Given the description of an element on the screen output the (x, y) to click on. 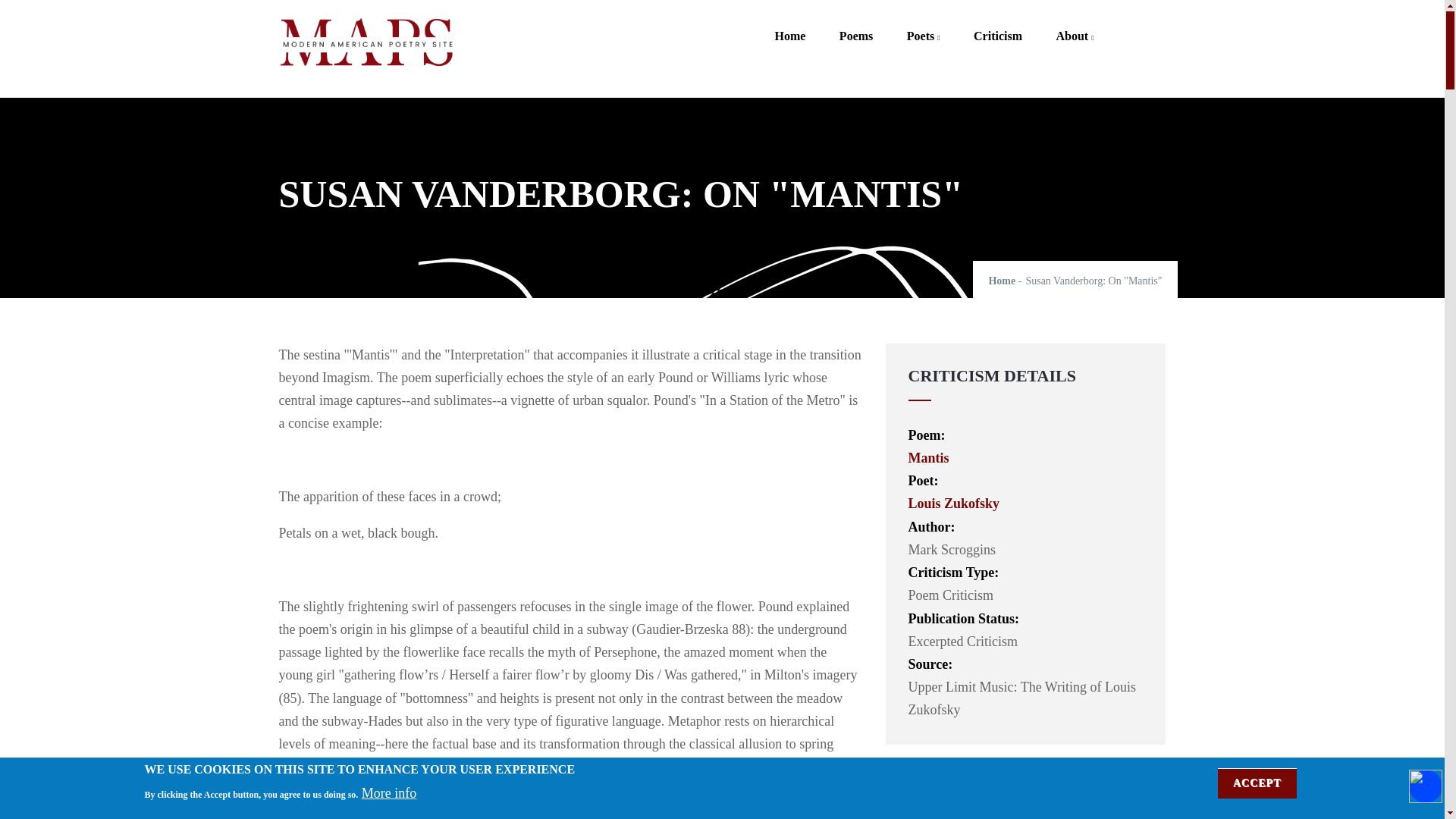
Home (789, 25)
Home (365, 44)
Louis Zukofsky (954, 503)
Poets (923, 25)
Home (1001, 280)
Poems (856, 25)
ACCEPT (1257, 783)
More info (388, 793)
Mantis (928, 458)
Accessibility Menu (1425, 786)
About (1075, 25)
Criticism (997, 25)
